Given the description of an element on the screen output the (x, y) to click on. 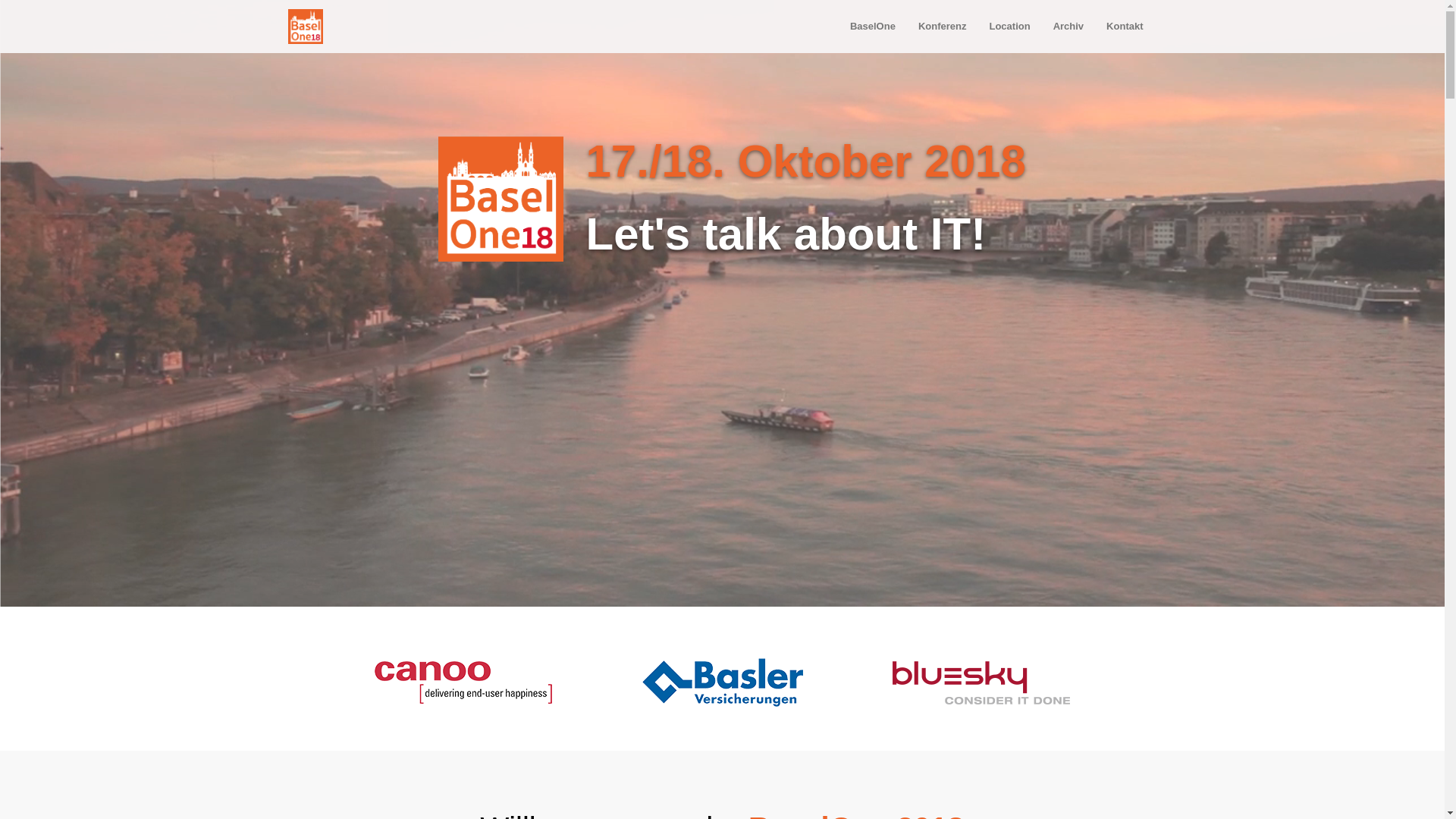
Kontakt Element type: text (1124, 26)
Location Element type: text (1009, 26)
Archiv Element type: text (1068, 26)
Konferenz Element type: text (942, 26)
BaselOne Element type: text (872, 26)
